Given the description of an element on the screen output the (x, y) to click on. 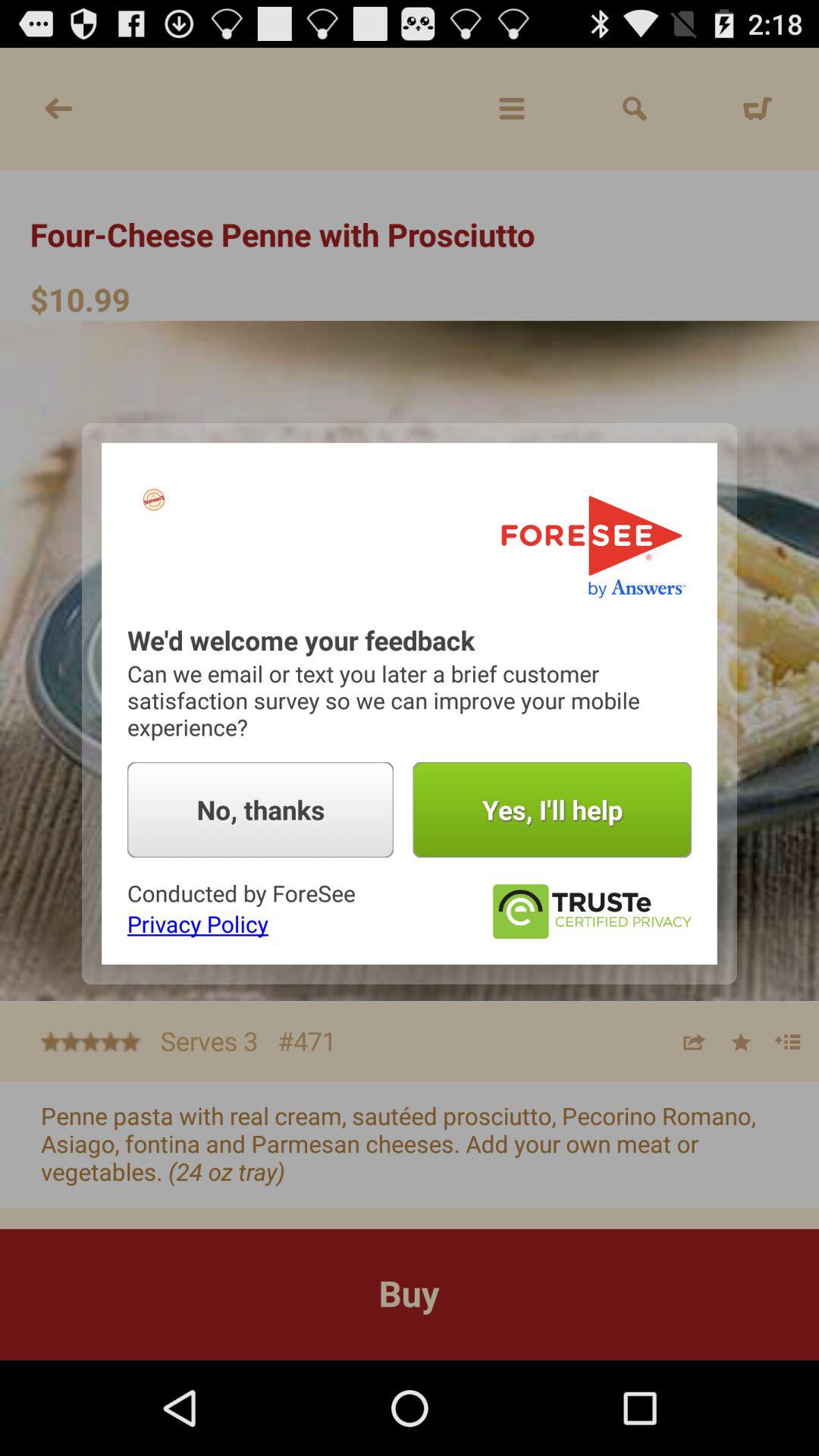
open the item next to no, thanks icon (551, 809)
